Given the description of an element on the screen output the (x, y) to click on. 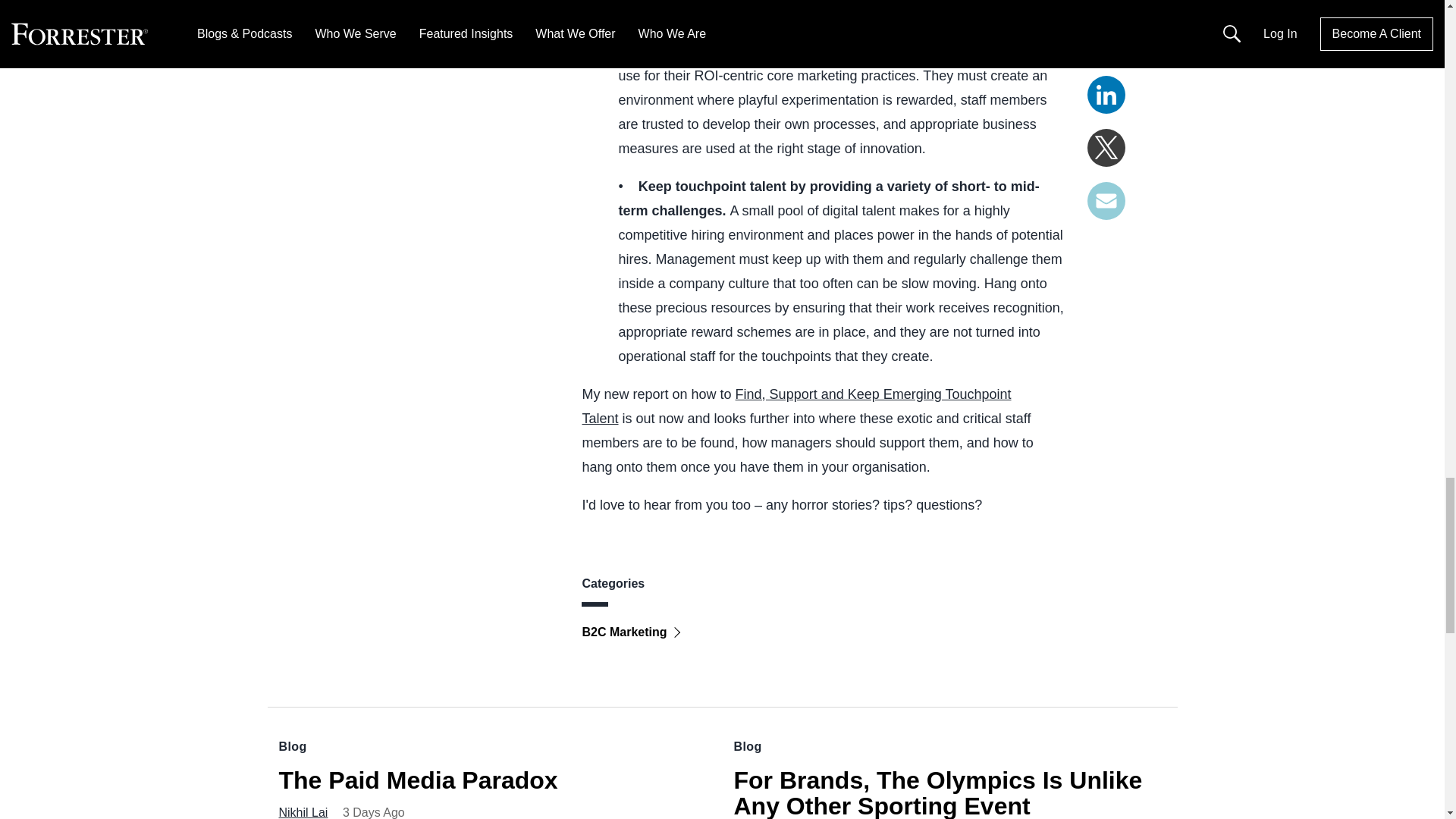
Nikhil Lai (304, 812)
